Given the description of an element on the screen output the (x, y) to click on. 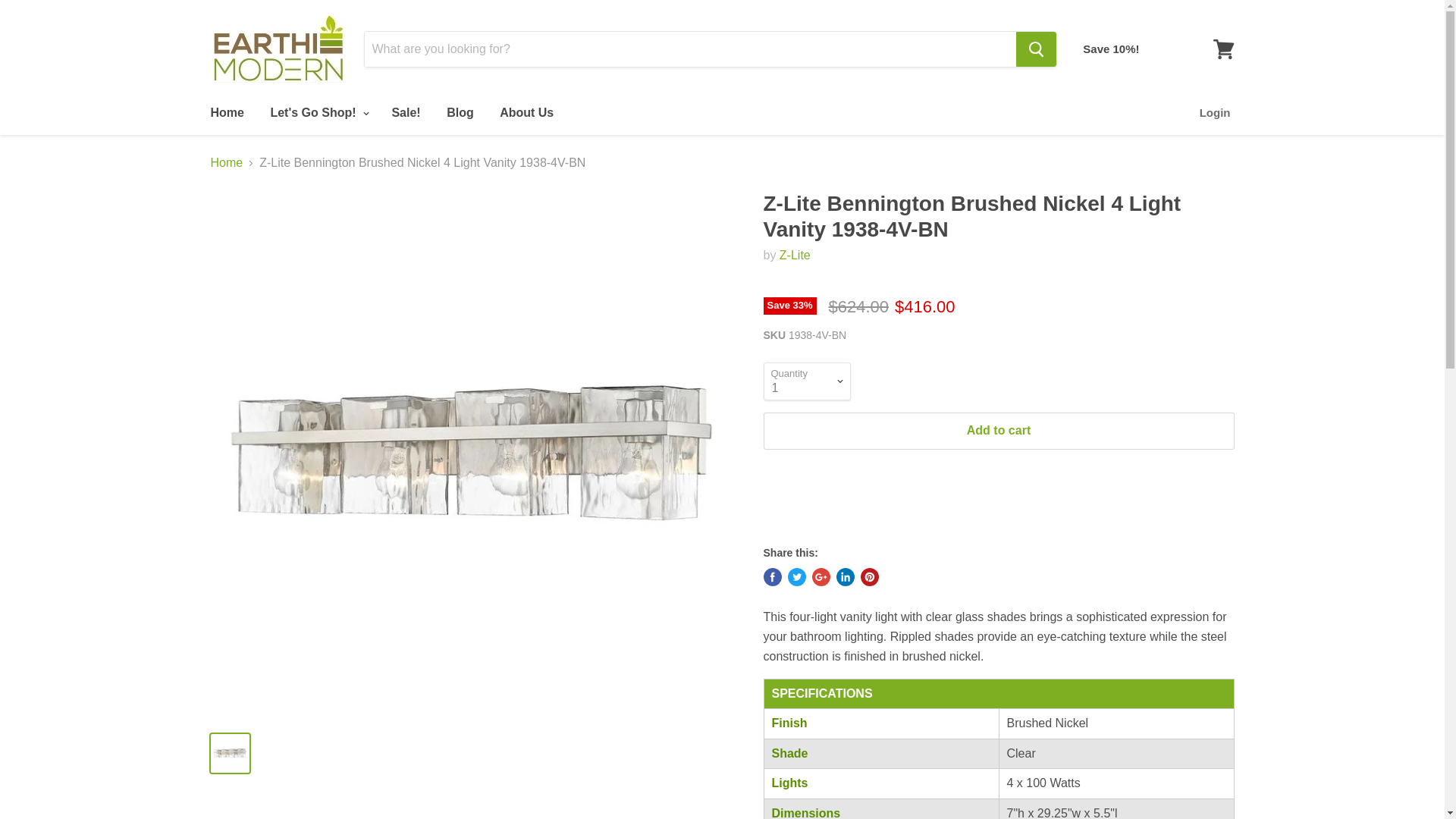
Login (1215, 112)
View cart (1223, 48)
Let's Go Shop! (318, 112)
Sale! (405, 112)
Z-Lite (794, 254)
About Us (525, 112)
Blog (459, 112)
Home (226, 112)
